Given the description of an element on the screen output the (x, y) to click on. 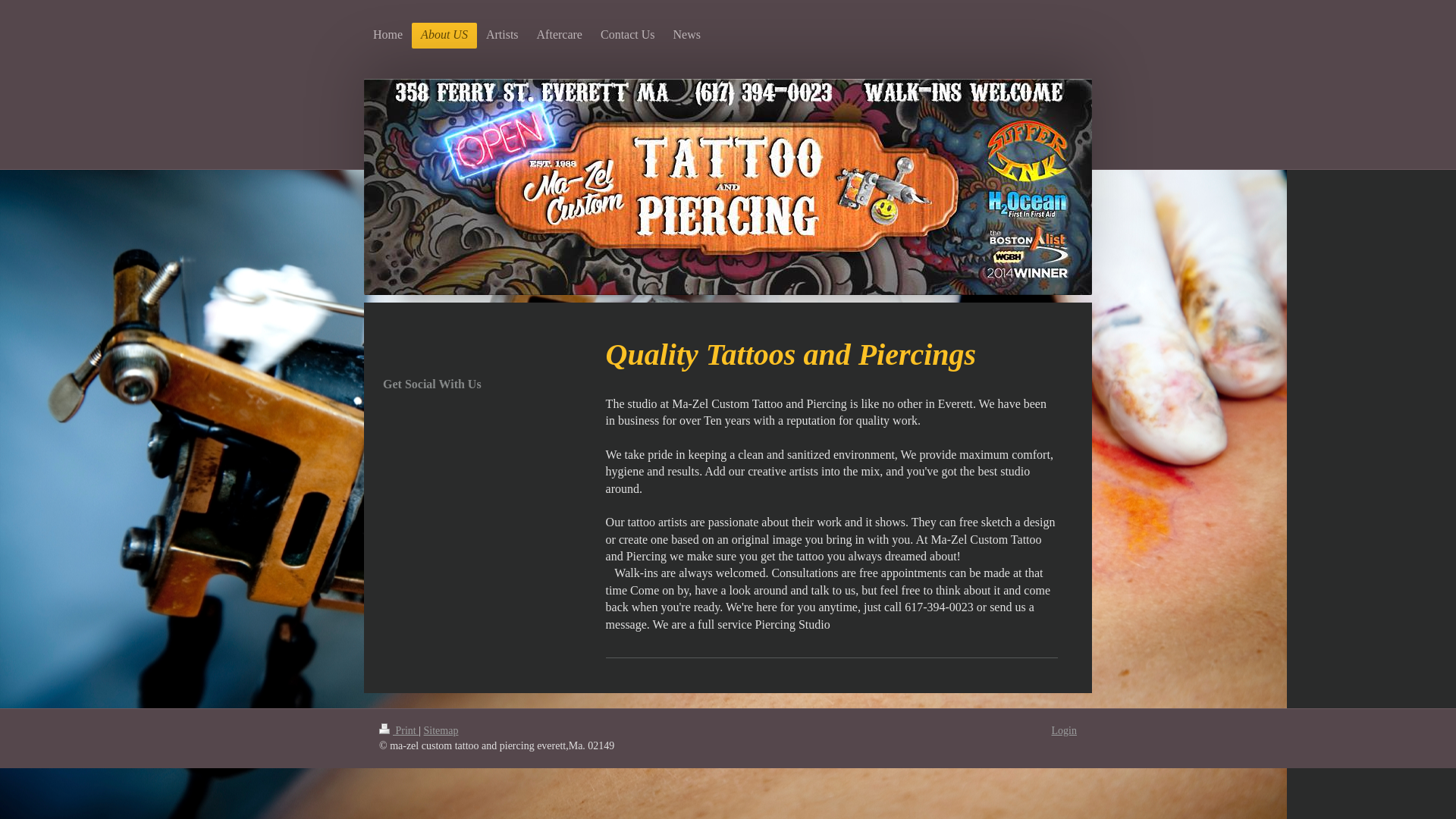
About US (444, 35)
Sitemap (440, 730)
Artists (502, 35)
Print (398, 730)
Home (388, 35)
Contact Us (627, 35)
News (686, 35)
Aftercare (559, 35)
Login (1064, 730)
